Given the description of an element on the screen output the (x, y) to click on. 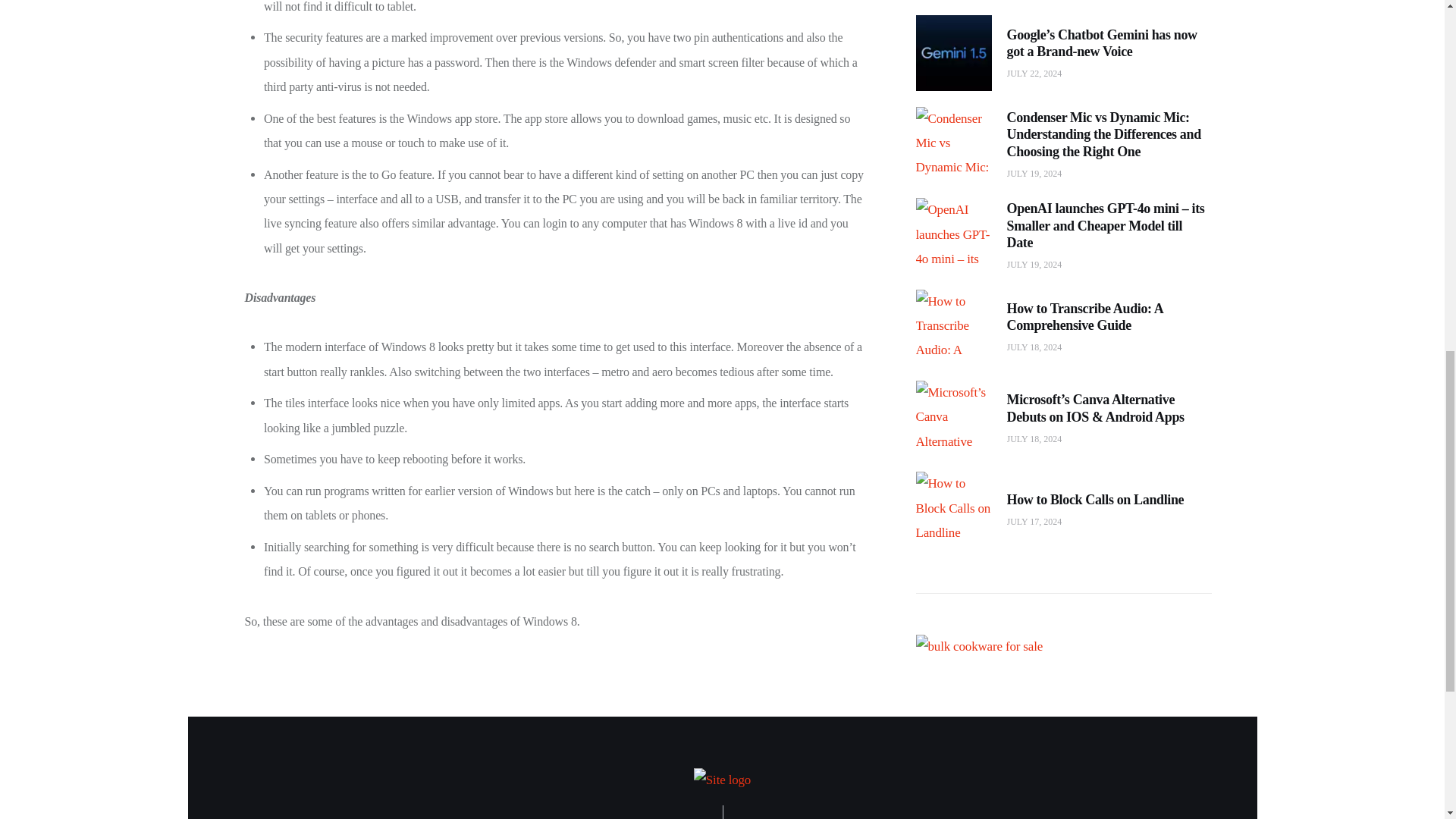
Get the latest kitchen gadgets (979, 594)
